Given the description of an element on the screen output the (x, y) to click on. 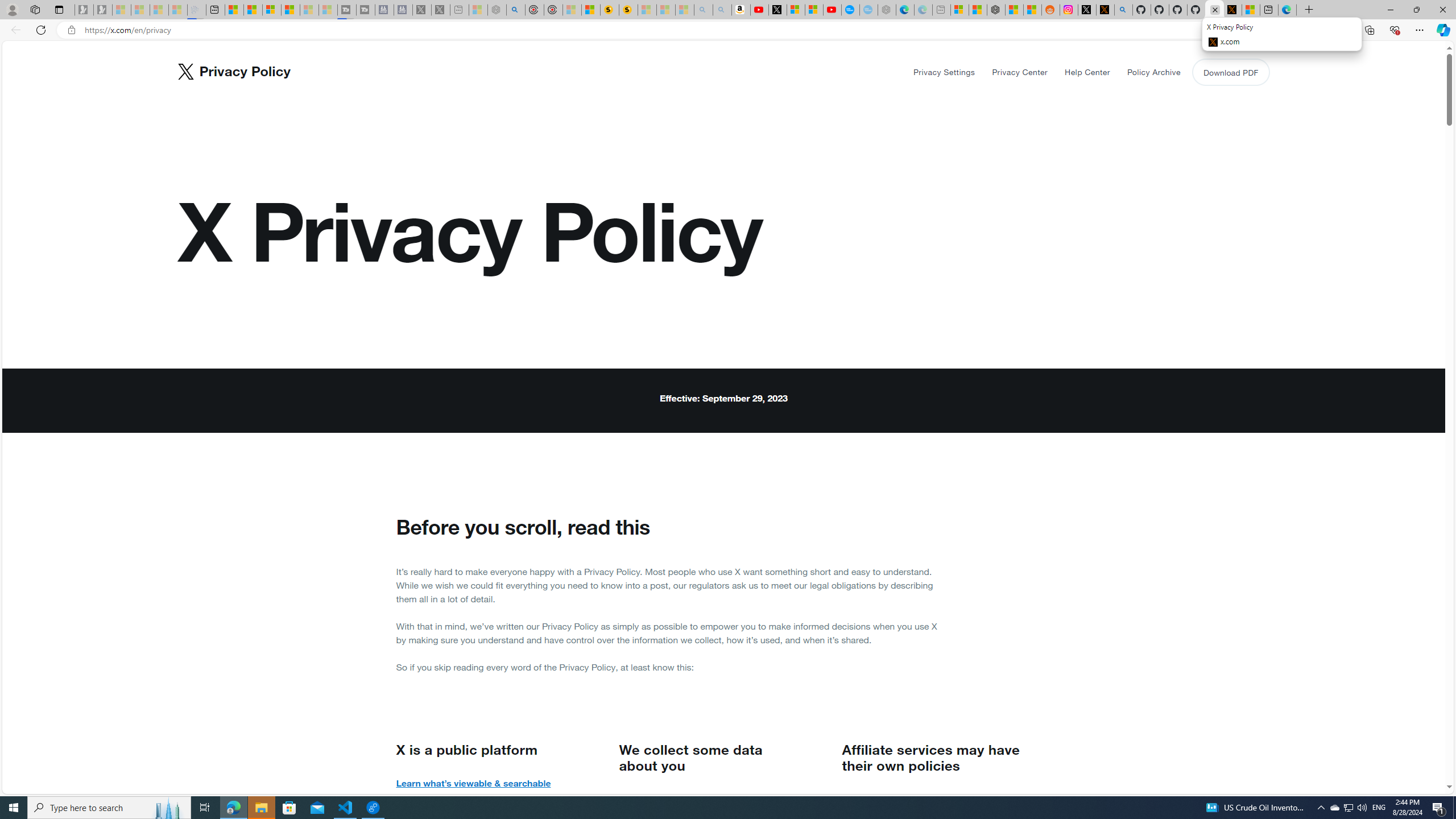
Privacy Center (1020, 72)
Nordace - Summer Adventures 2024 - Sleeping (497, 9)
poe - Search (515, 9)
Policy Archive (1153, 72)
